Given the description of an element on the screen output the (x, y) to click on. 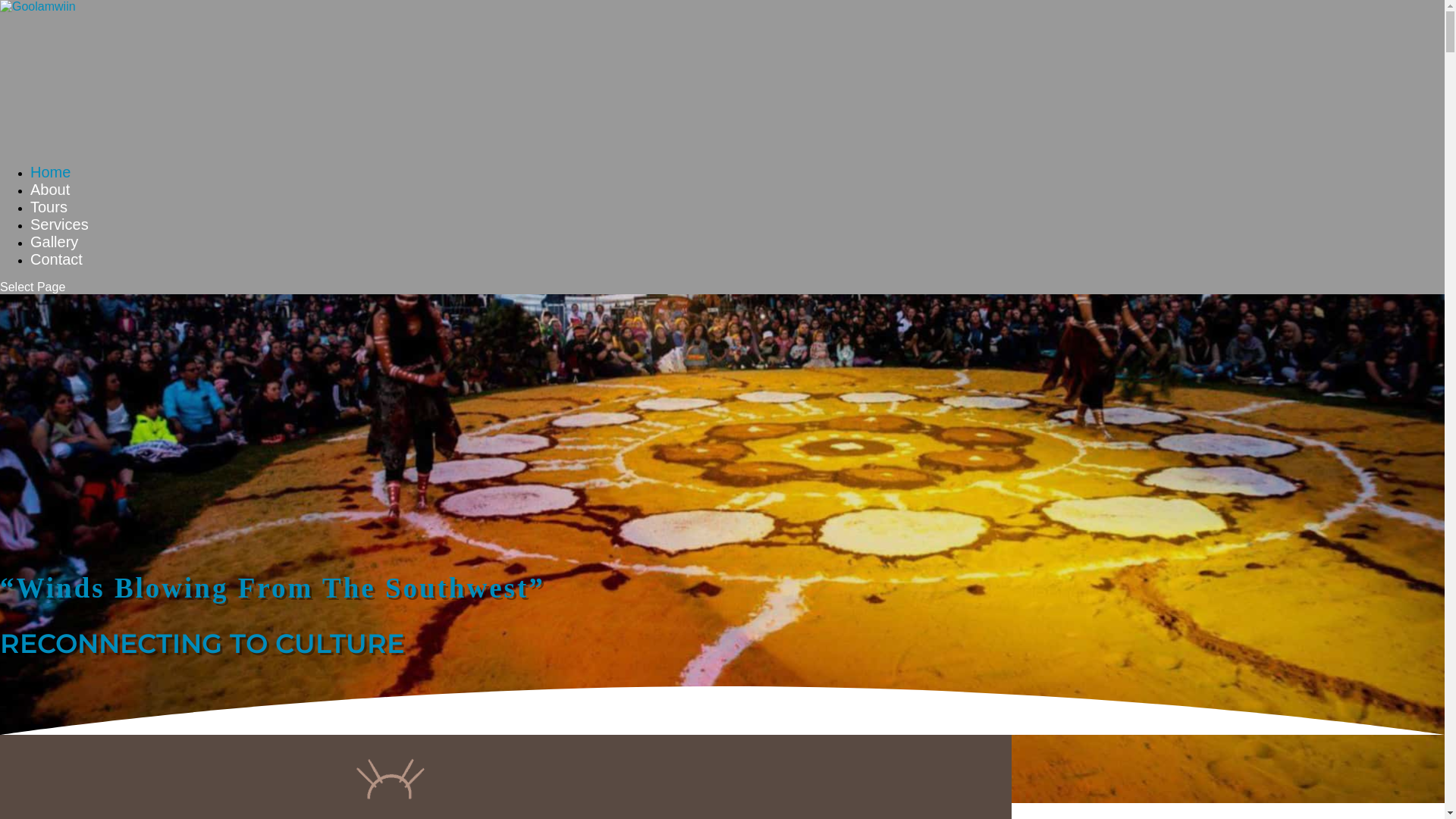
Services Element type: text (59, 238)
Gallery Element type: text (54, 255)
Contact Element type: text (56, 272)
Home Element type: text (50, 185)
About Element type: text (49, 203)
Tours Element type: text (48, 220)
